Given the description of an element on the screen output the (x, y) to click on. 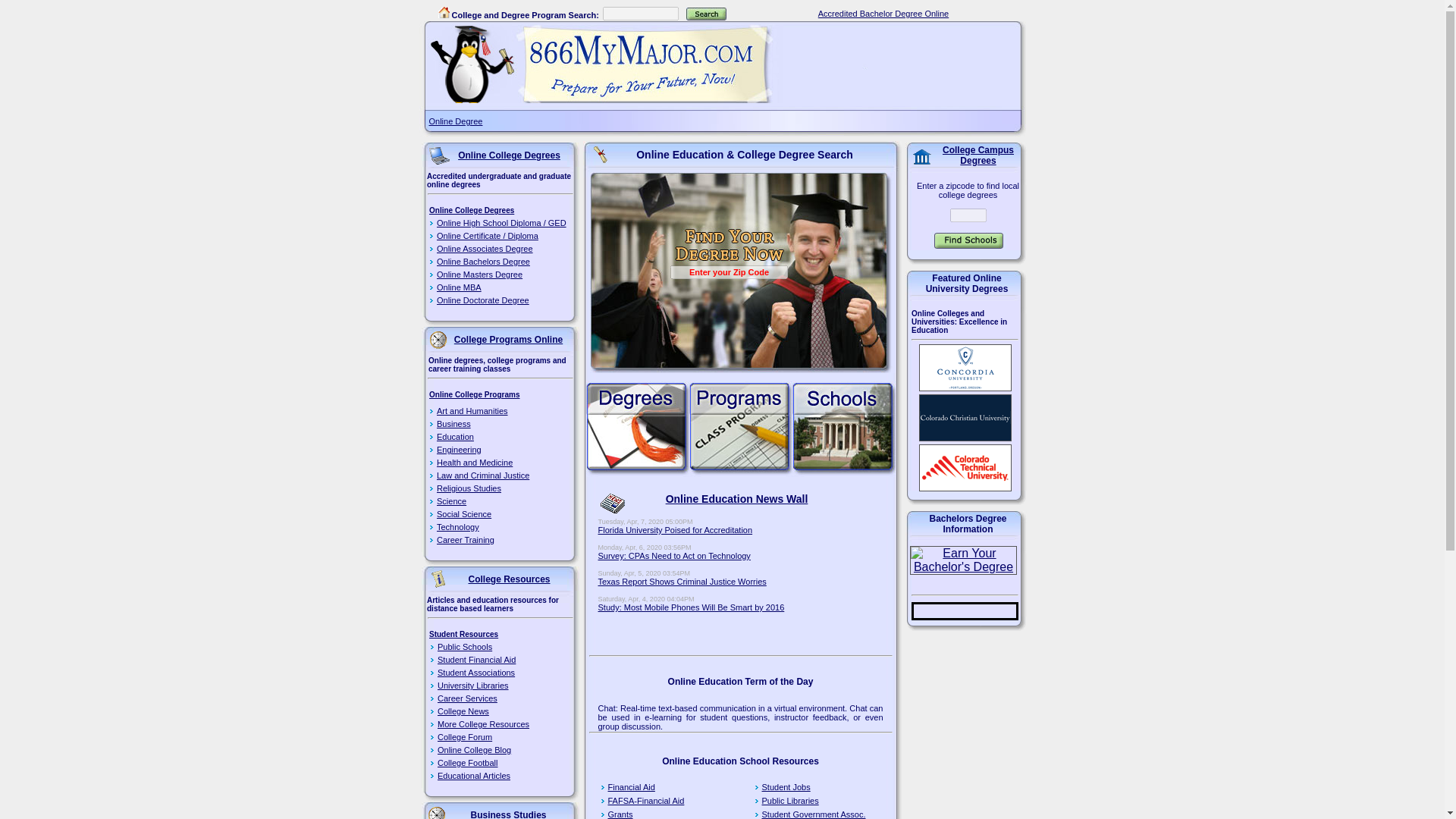
College Degrees (636, 428)
Search for Colleges (705, 13)
Business Studies (437, 812)
Financial Aid (631, 786)
Online MBA (501, 286)
College Resources (439, 579)
FAFSA-Financial Aid (646, 800)
Enter your Zip Code (728, 272)
Online Degree (456, 121)
Education Online Degree News (611, 503)
